Given the description of an element on the screen output the (x, y) to click on. 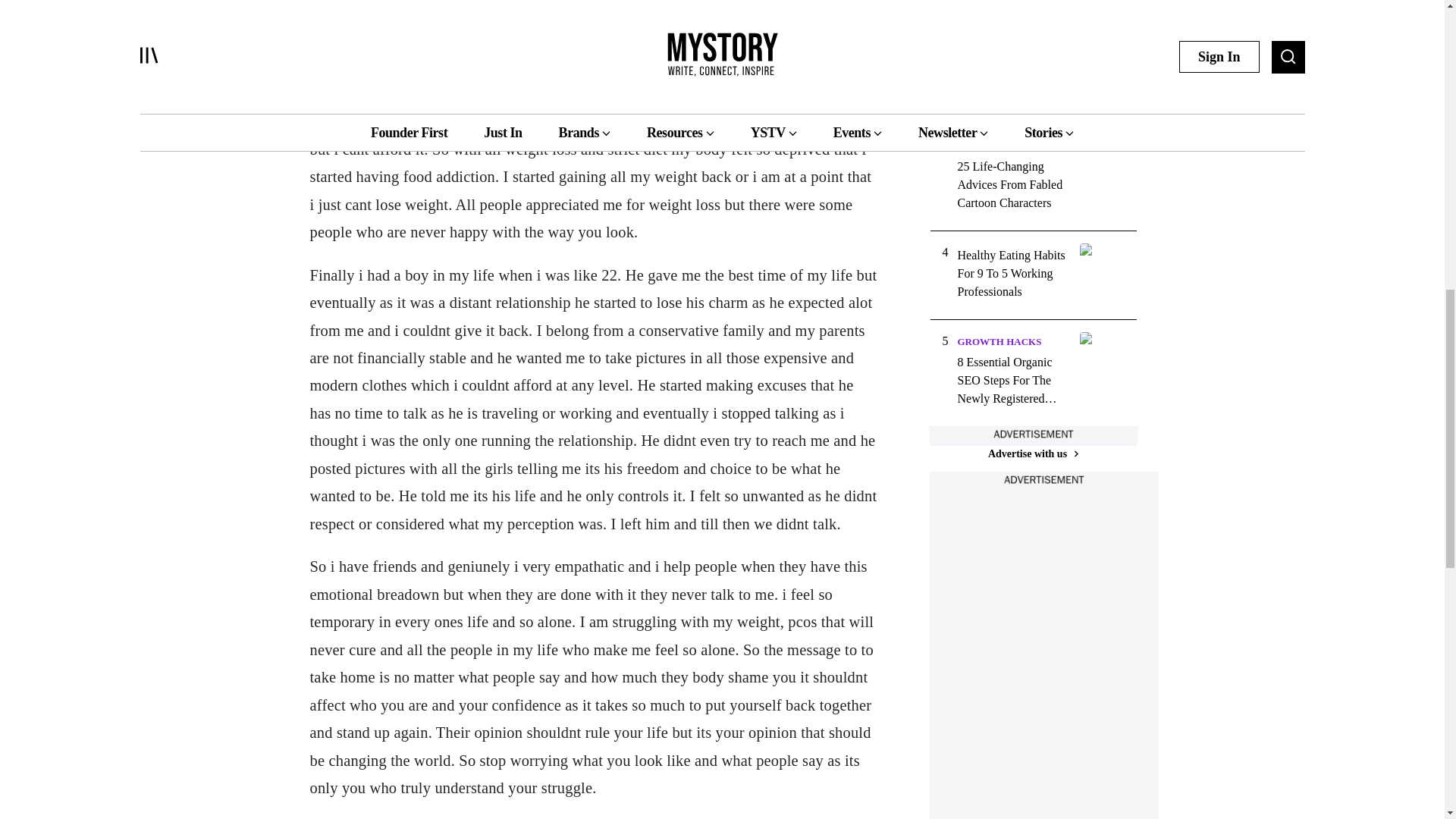
GROWTH HACKS (998, 341)
Keys To Proper Self-Evaluation Of Your Design Projects (1013, 77)
Healthy Eating Habits For 9 To 5 Working Professionals (1013, 273)
Advertise with us (1032, 453)
25 Life-Changing Advices From Fabled Cartoon Characters (1013, 185)
SELF-HELP (983, 39)
SELF-HELP (983, 145)
